Given the description of an element on the screen output the (x, y) to click on. 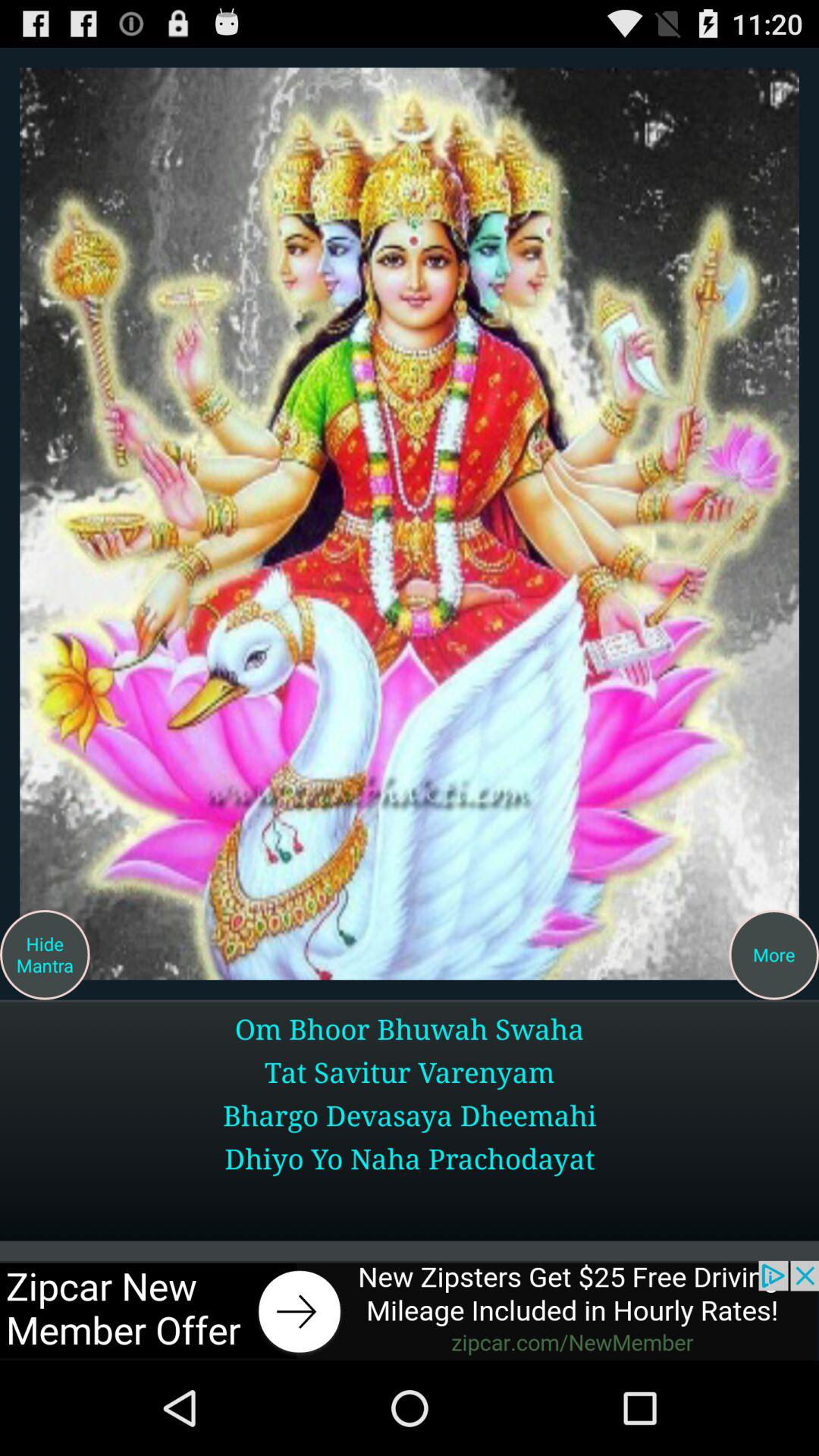
click photo (409, 523)
